Given the description of an element on the screen output the (x, y) to click on. 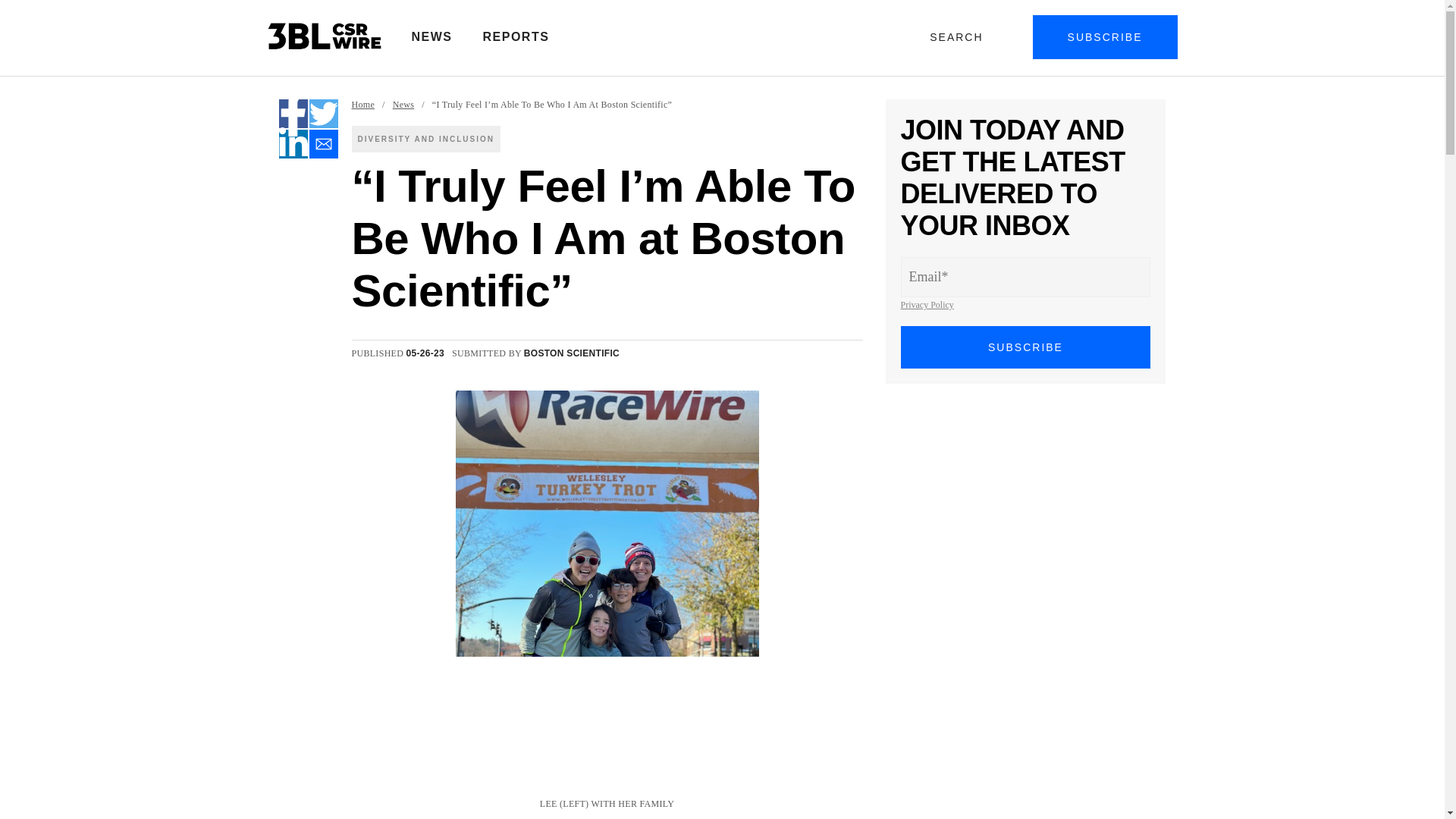
Privacy Policy (927, 304)
SEARCH (959, 36)
DIVERSITY AND INCLUSION (426, 139)
News (403, 104)
Home (363, 104)
Linkedin (293, 143)
SUBSCRIBE (1104, 36)
Facebook (293, 113)
Twitter (322, 113)
SUBSCRIBE (1026, 346)
